Given the description of an element on the screen output the (x, y) to click on. 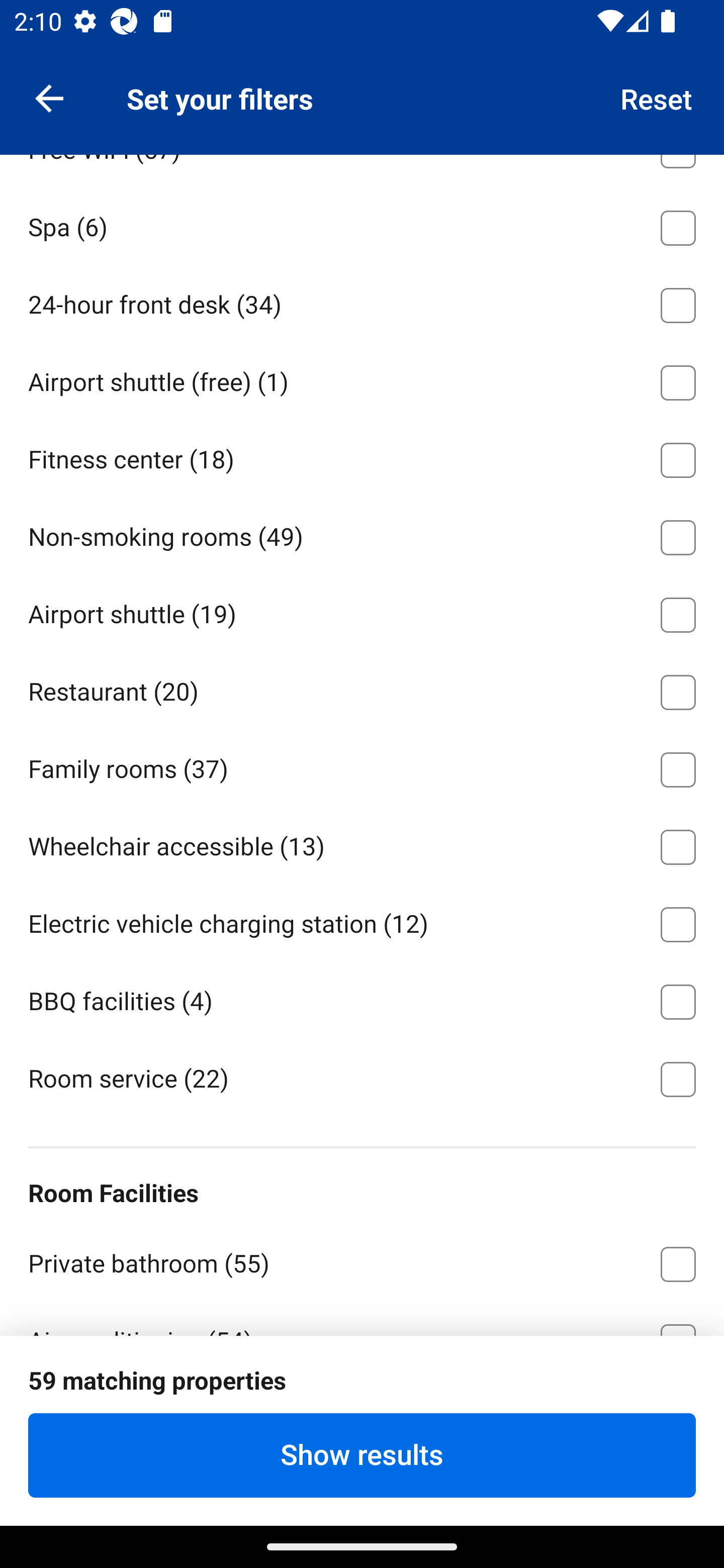
Navigate up (49, 97)
Reset (656, 97)
Spa ⁦(6) (361, 224)
24-hour front desk ⁦(34) (361, 301)
Airport shuttle (free) ⁦(1) (361, 379)
Fitness center ⁦(18) (361, 456)
Non-smoking rooms ⁦(49) (361, 533)
Airport shuttle ⁦(19) (361, 611)
Restaurant ⁦(20) (361, 688)
Family rooms ⁦(37) (361, 765)
Wheelchair accessible ⁦(13) (361, 843)
Electric vehicle charging station ⁦(12) (361, 920)
BBQ facilities ⁦(4) (361, 998)
Room service ⁦(22) (361, 1077)
Private bathroom ⁦(55) (361, 1260)
Show results (361, 1454)
